Given the description of an element on the screen output the (x, y) to click on. 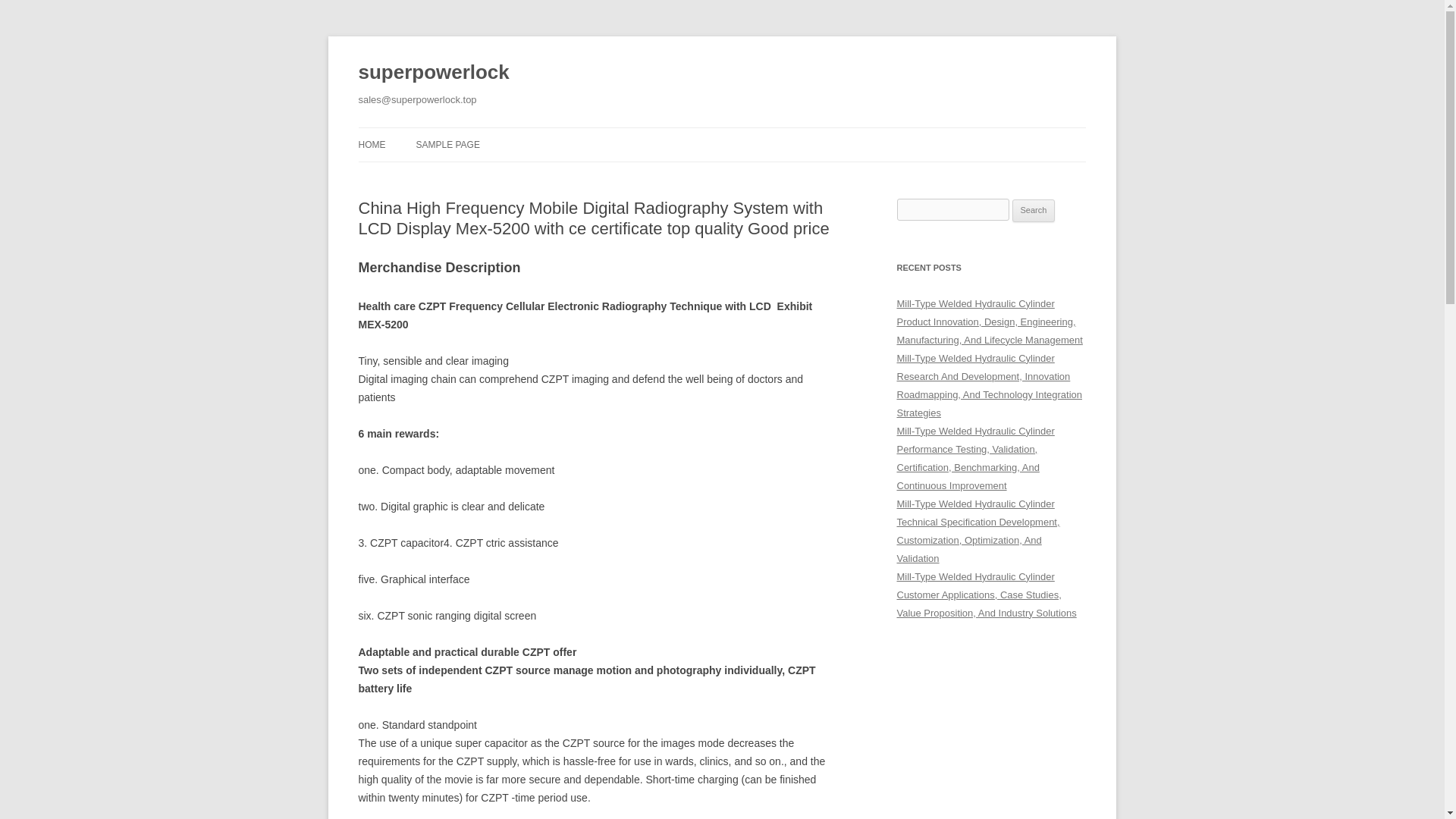
superpowerlock (433, 72)
Search (1033, 210)
Search (1033, 210)
superpowerlock (433, 72)
SAMPLE PAGE (446, 144)
